Given the description of an element on the screen output the (x, y) to click on. 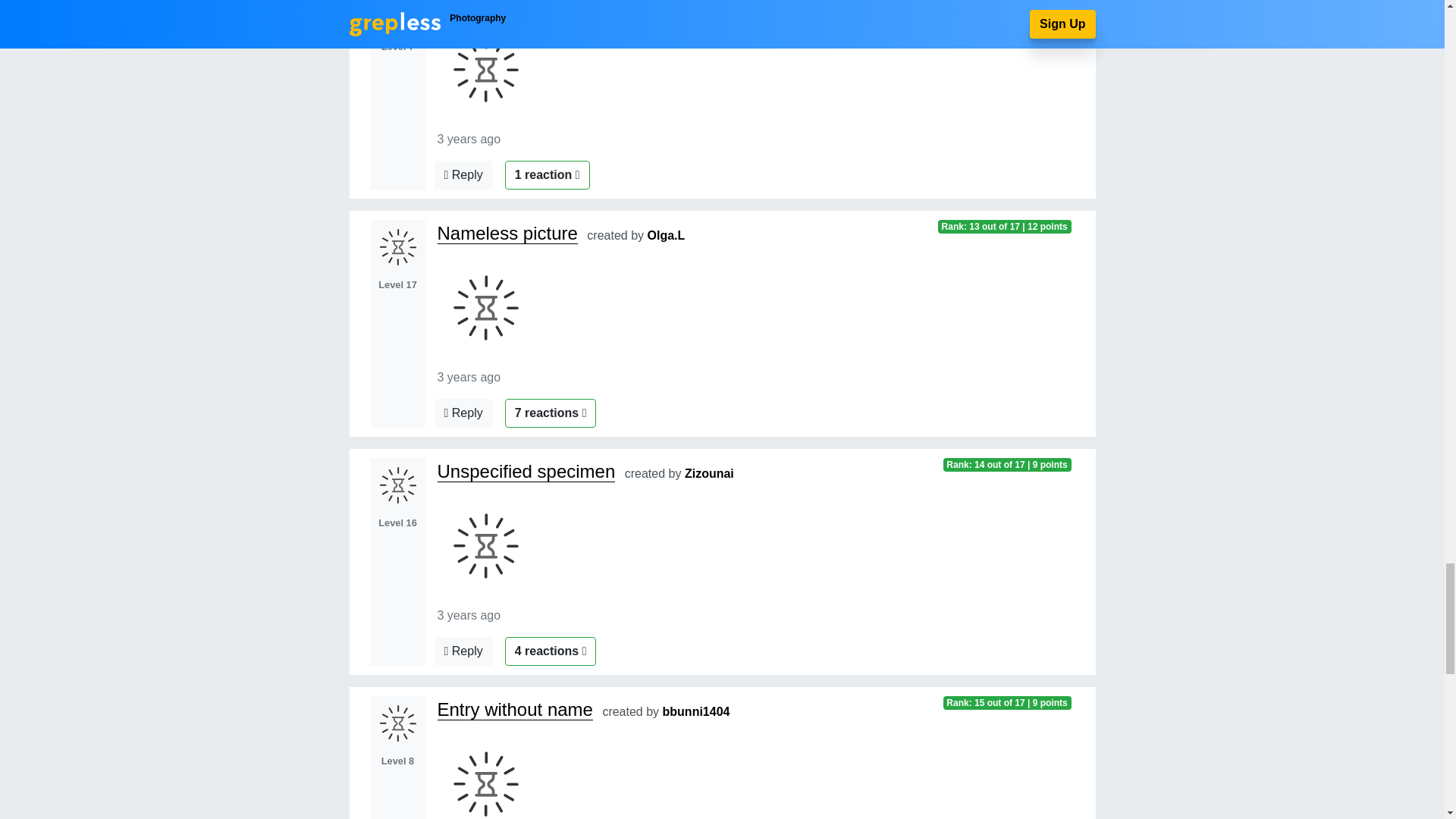
Answers to this response (462, 412)
Answers to this response (462, 651)
Answers to this response (462, 174)
